Given the description of an element on the screen output the (x, y) to click on. 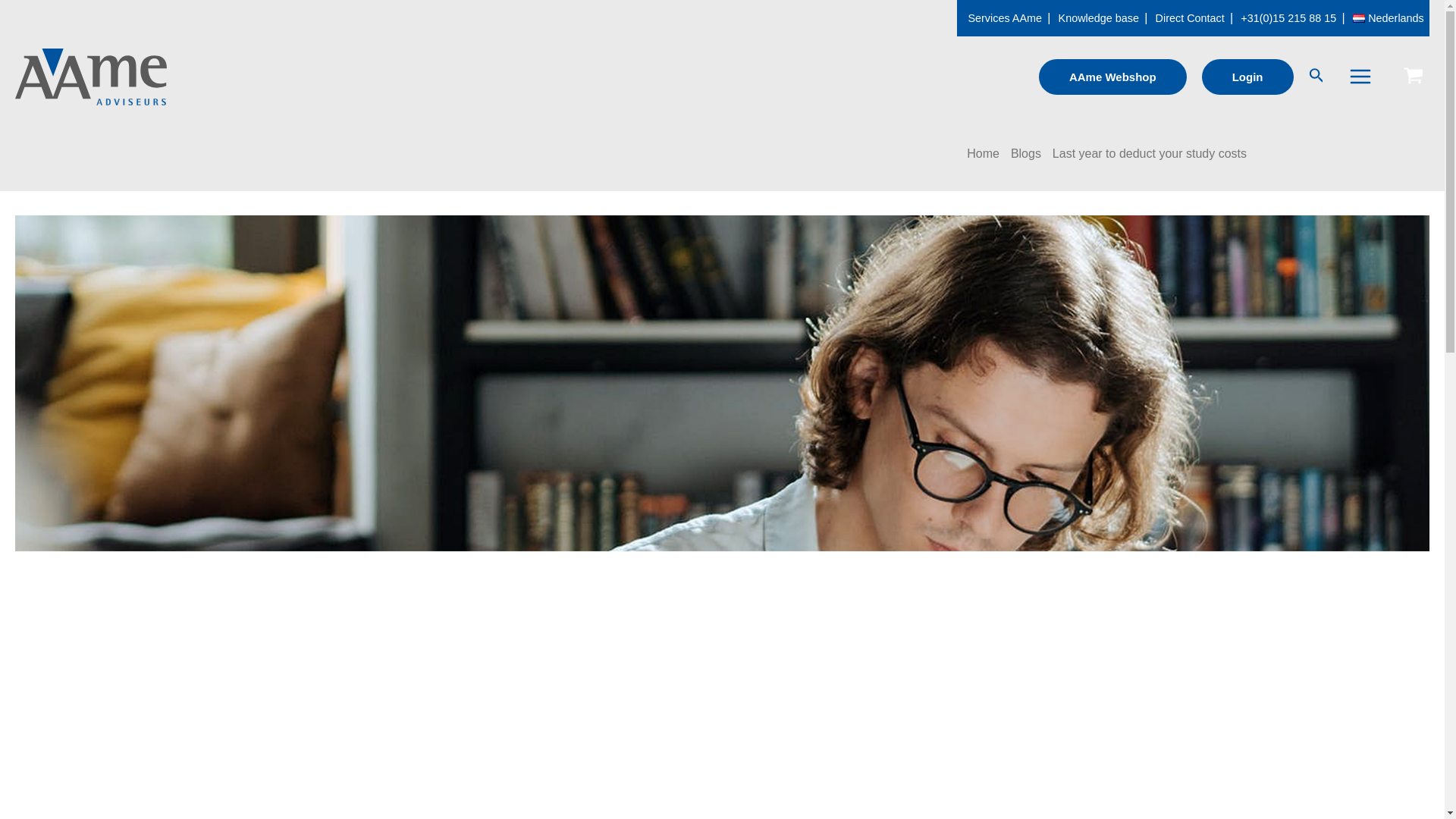
AAme Webshop (1112, 76)
Knowledge base (1098, 18)
Nederlands (1388, 18)
Services AAme (1004, 18)
Main Menu (1360, 76)
Login (1248, 76)
Direct Contact (1190, 18)
